Given the description of an element on the screen output the (x, y) to click on. 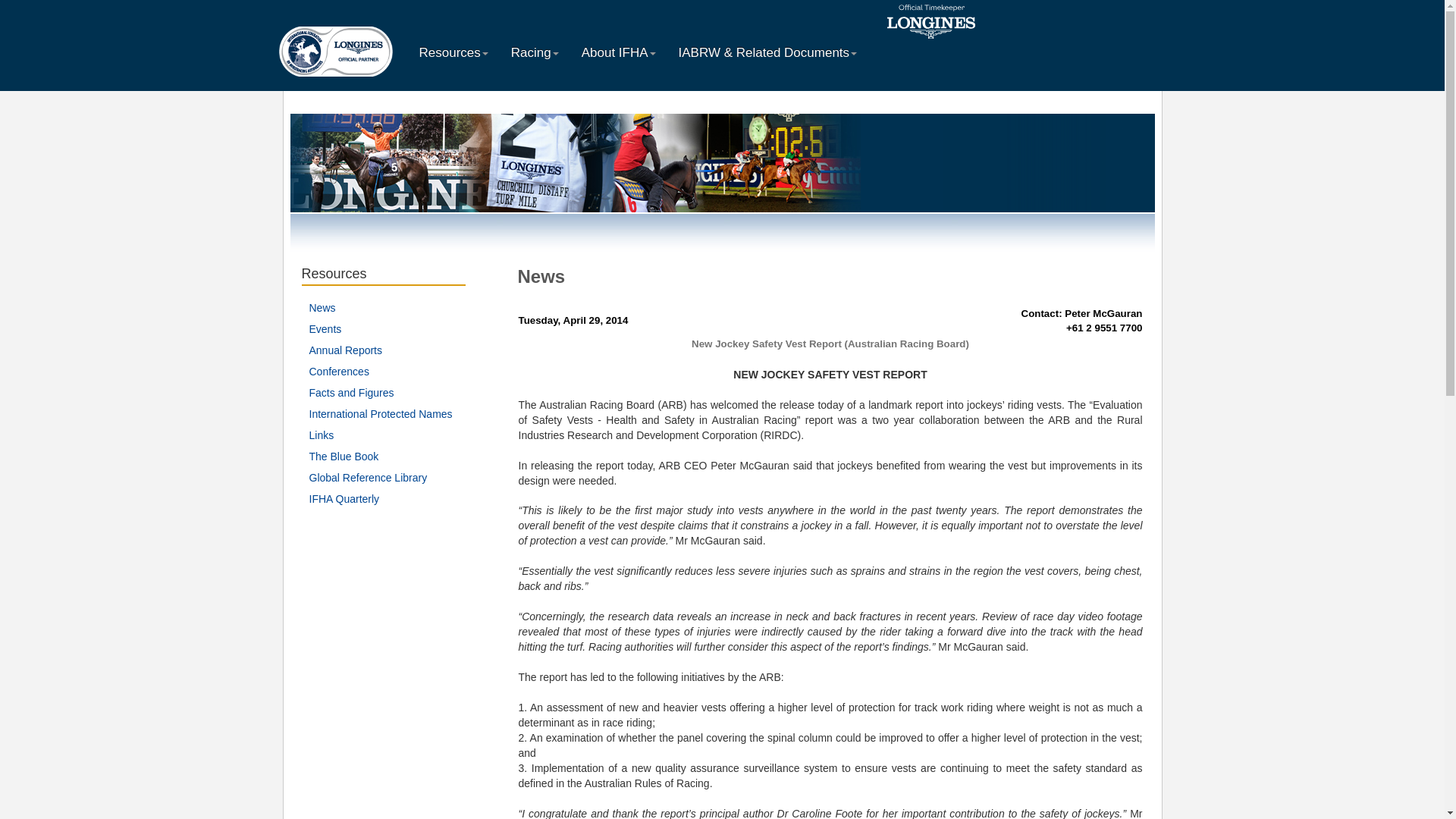
Racing (534, 53)
Resources (453, 53)
About IFHA (618, 53)
